Given the description of an element on the screen output the (x, y) to click on. 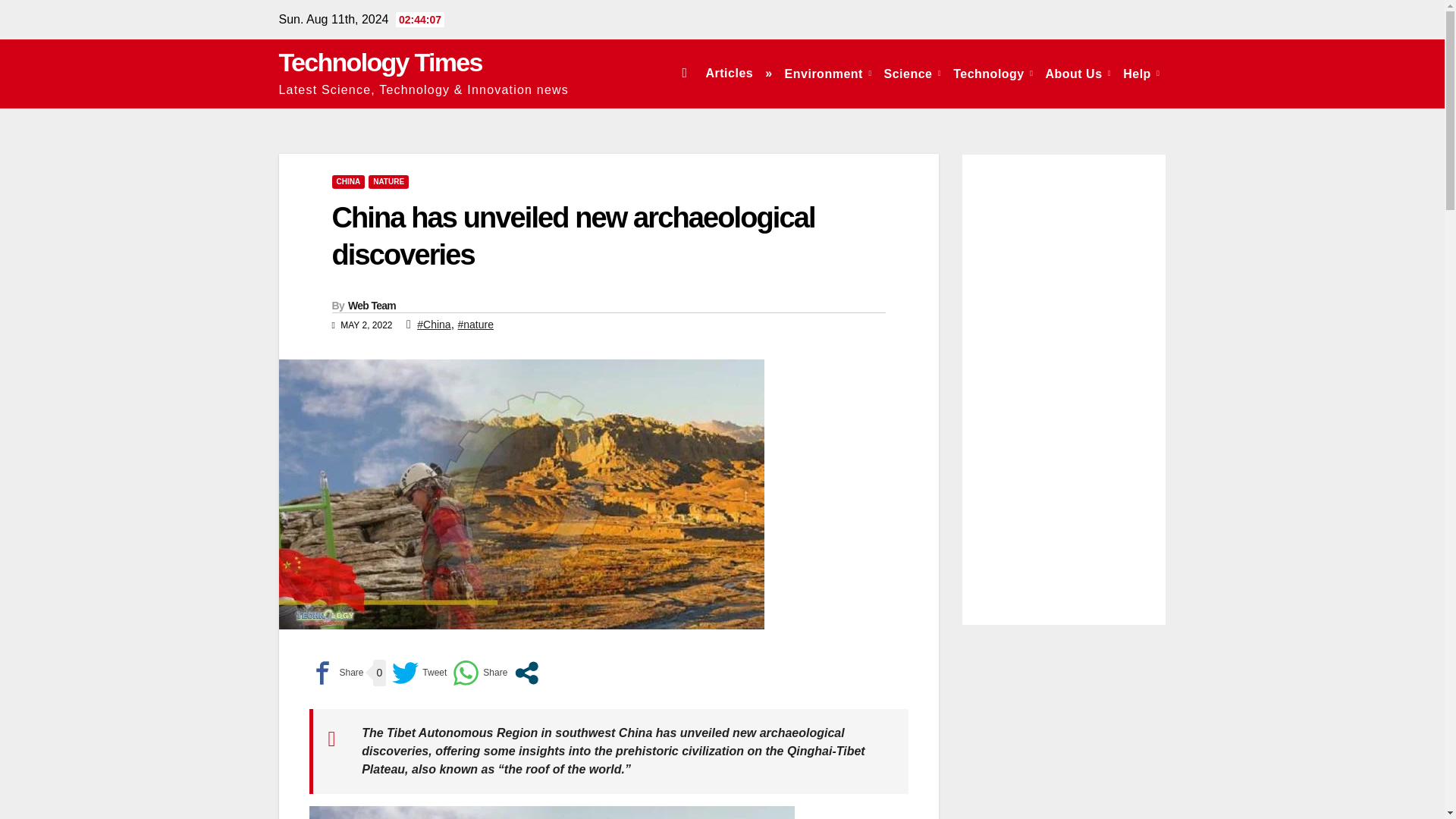
Science (912, 73)
Technology (993, 73)
Technology (993, 73)
Technology Times (380, 61)
Environment (827, 73)
Environment (827, 73)
Science (912, 73)
About Us (1077, 73)
